Given the description of an element on the screen output the (x, y) to click on. 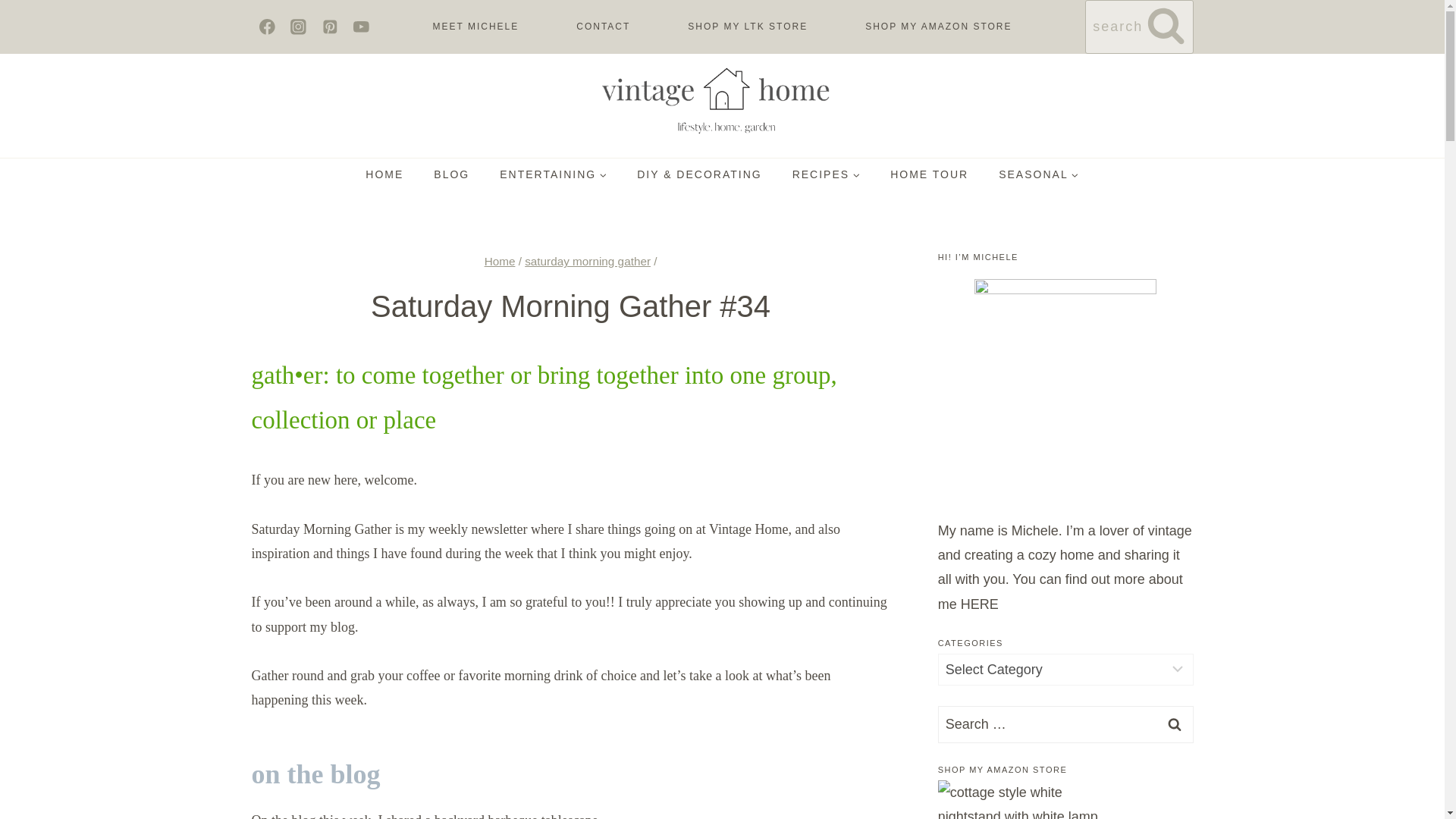
SHOP MY AMAZON STORE (938, 26)
SEASONAL (1038, 174)
ENTERTAINING (552, 174)
CONTACT (603, 26)
Search (1174, 723)
SHOP MY LTK STORE (747, 26)
RECIPES (826, 174)
search (1138, 27)
MEET MICHELE (475, 26)
HOME TOUR (929, 174)
